Given the description of an element on the screen output the (x, y) to click on. 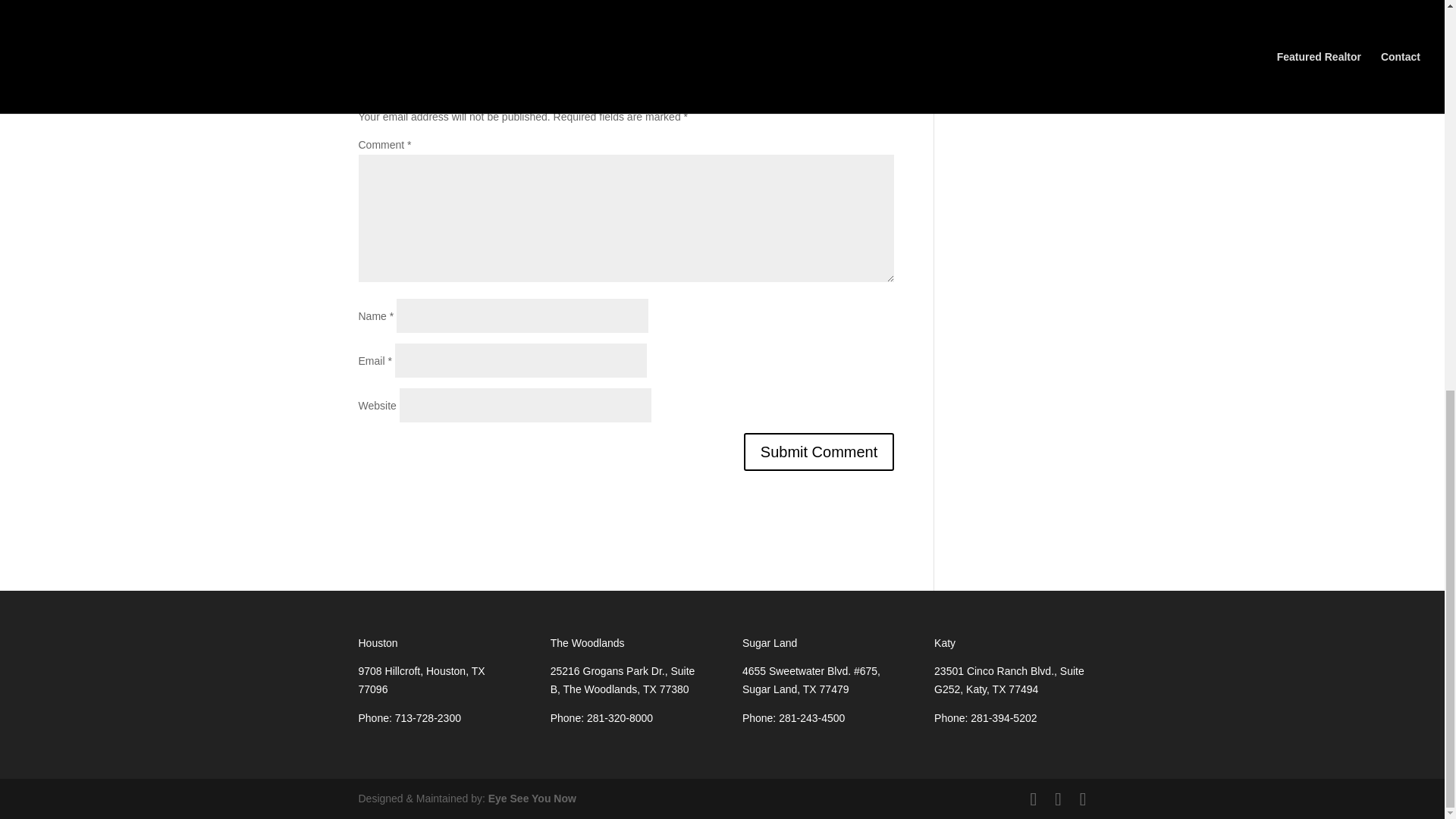
Submit Comment (819, 451)
281-243-4500 (811, 717)
For more information on this listing, click here. (466, 5)
713-728-2300 (427, 717)
281-320-8000 (619, 717)
Submit Comment (819, 451)
281-394-5202 (1003, 717)
Eye See You Now (531, 798)
